Given the description of an element on the screen output the (x, y) to click on. 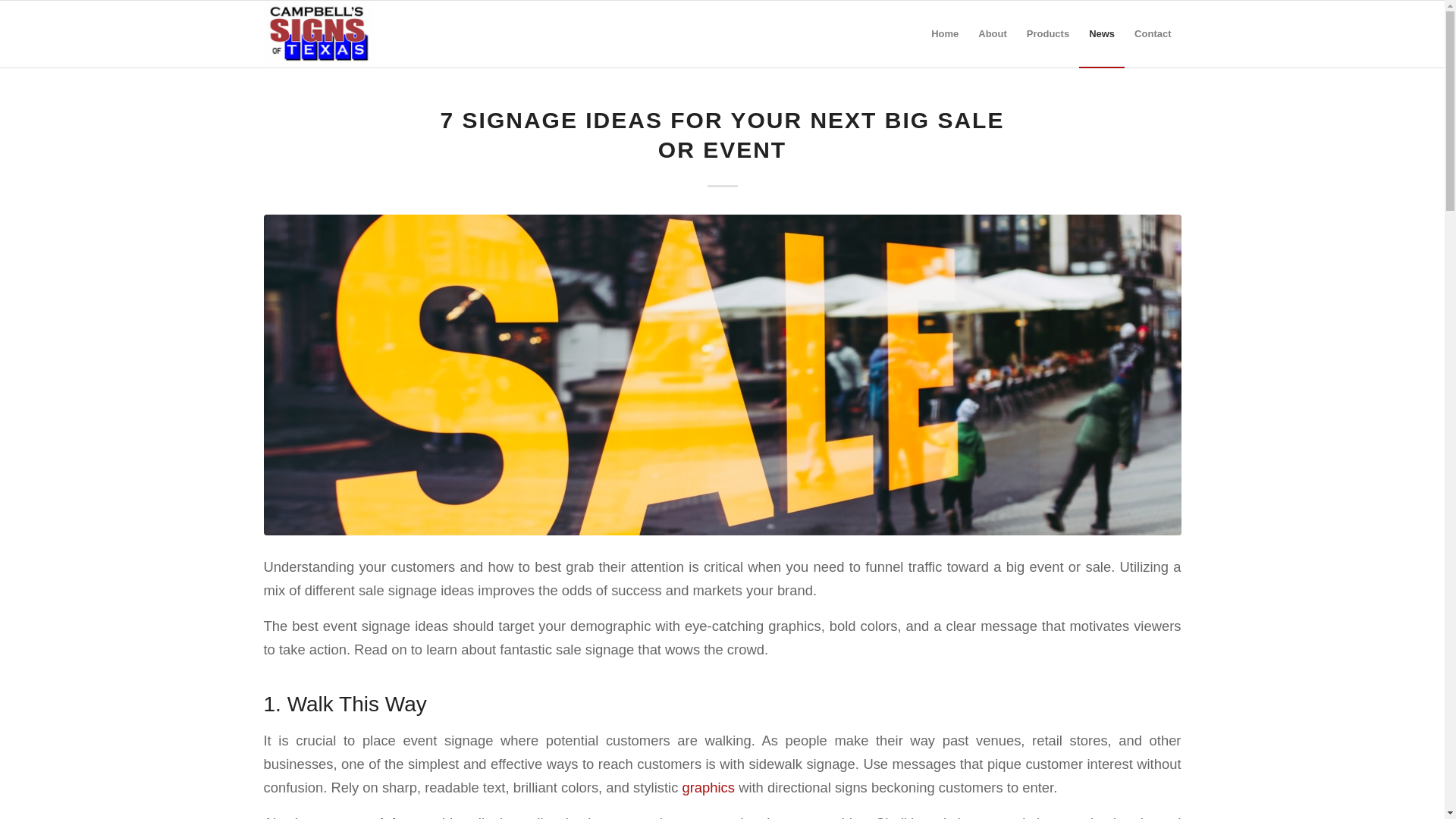
graphics (708, 787)
Products (1047, 33)
